Given the description of an element on the screen output the (x, y) to click on. 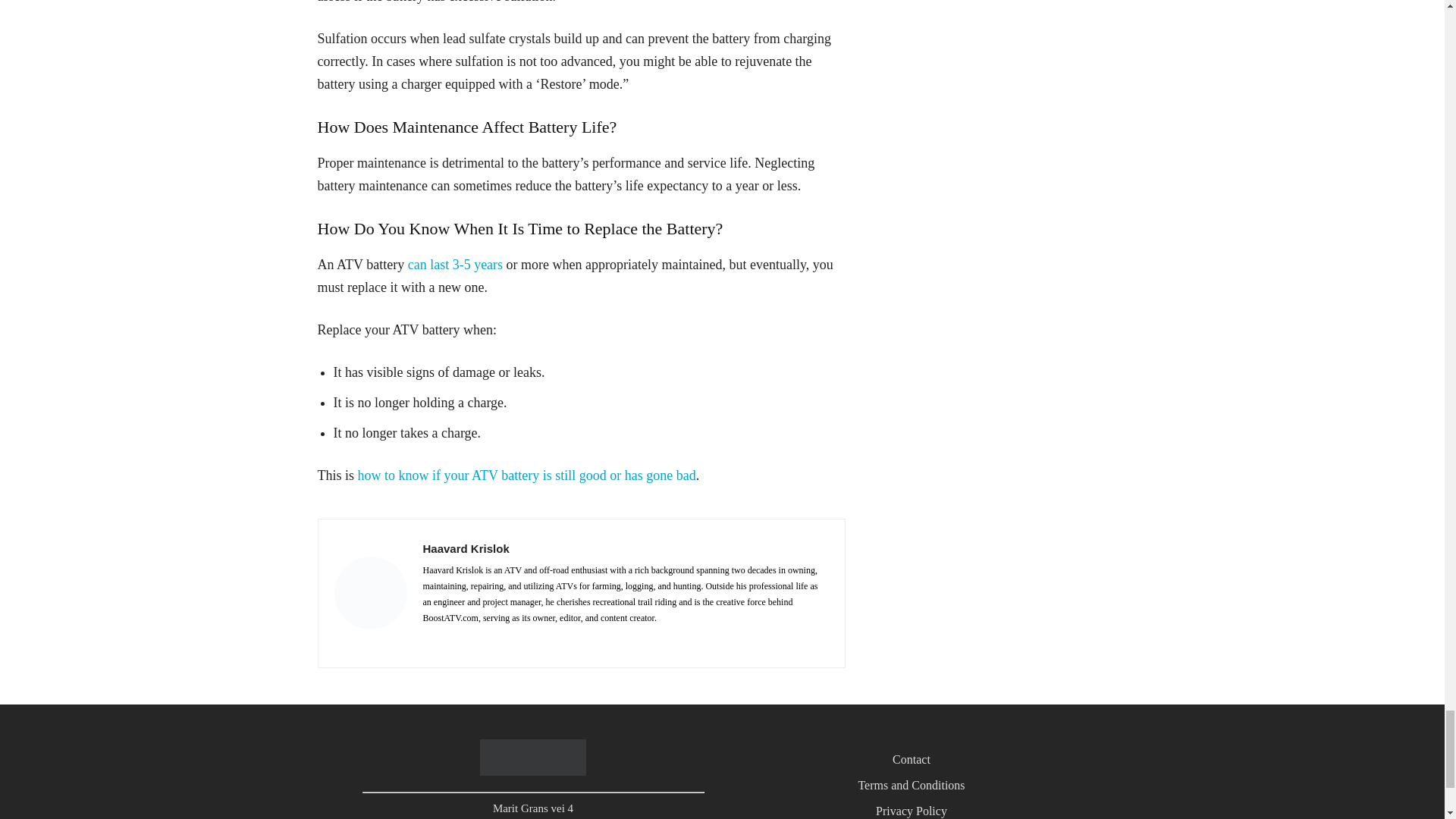
can last 3-5 years (454, 264)
Facebook (428, 640)
Haavard Krislok (625, 548)
Linkedin (449, 640)
Is Your ATV Battery Bad? 9 Symptoms to Look For (526, 475)
